Given the description of an element on the screen output the (x, y) to click on. 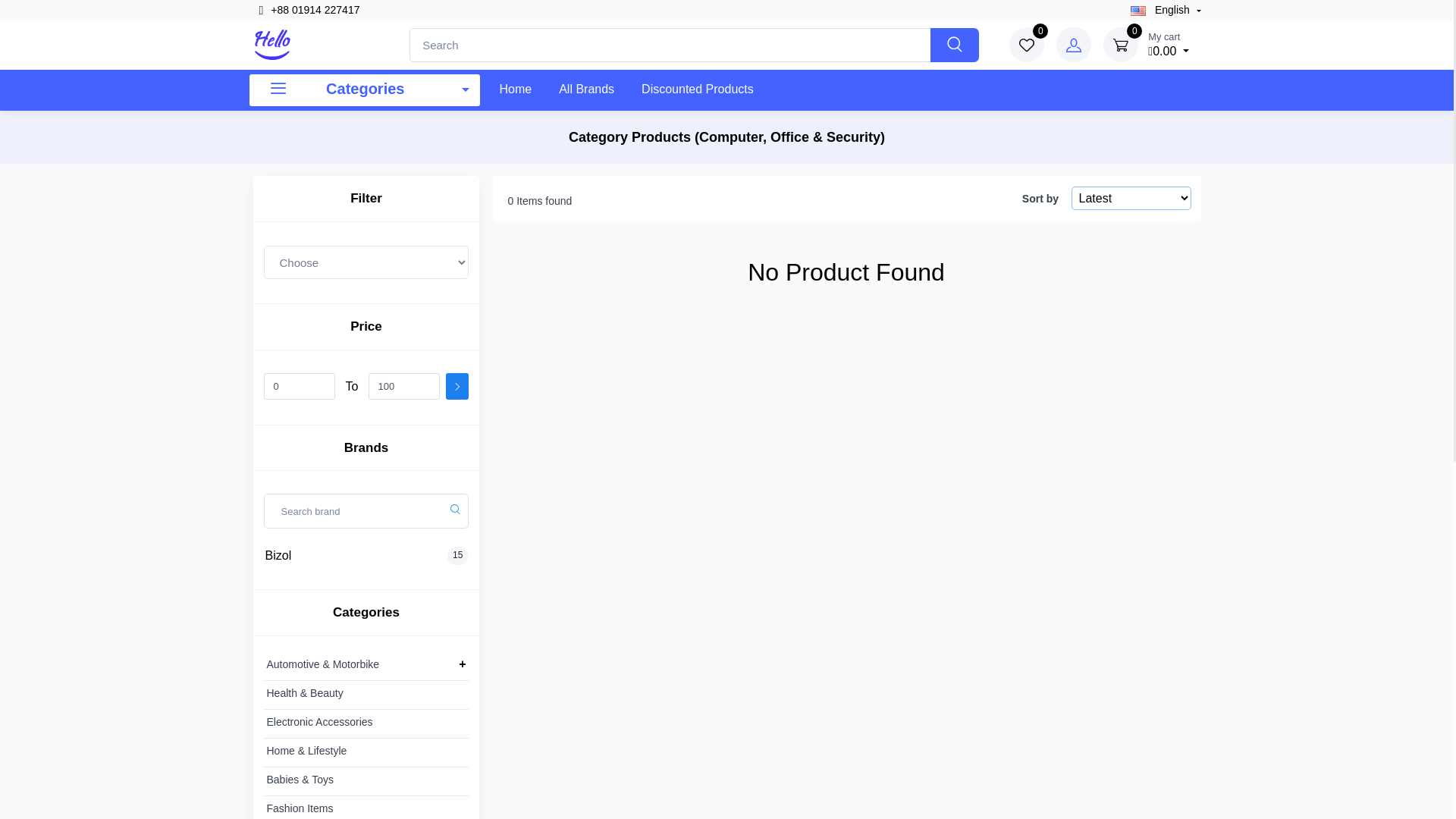
+ Element type: text (461, 664)
Health & Beauty Element type: text (304, 692)
0 Element type: text (1, 393)
All Brands Element type: text (586, 87)
Categories Element type: text (363, 90)
Home Element type: text (515, 87)
Electronic Accessories Element type: text (319, 721)
0 Element type: text (1026, 44)
Fashion Items Element type: text (299, 808)
Discounted Products Element type: text (697, 87)
0 Element type: text (1120, 44)
Babies & Toys Element type: text (299, 779)
English Element type: text (1165, 10)
Automotive & Motorbike Element type: text (322, 663)
Bizol
15 Element type: text (371, 555)
Home & Lifestyle Element type: text (306, 750)
+88 01914 227417 Element type: text (309, 10)
